Given the description of an element on the screen output the (x, y) to click on. 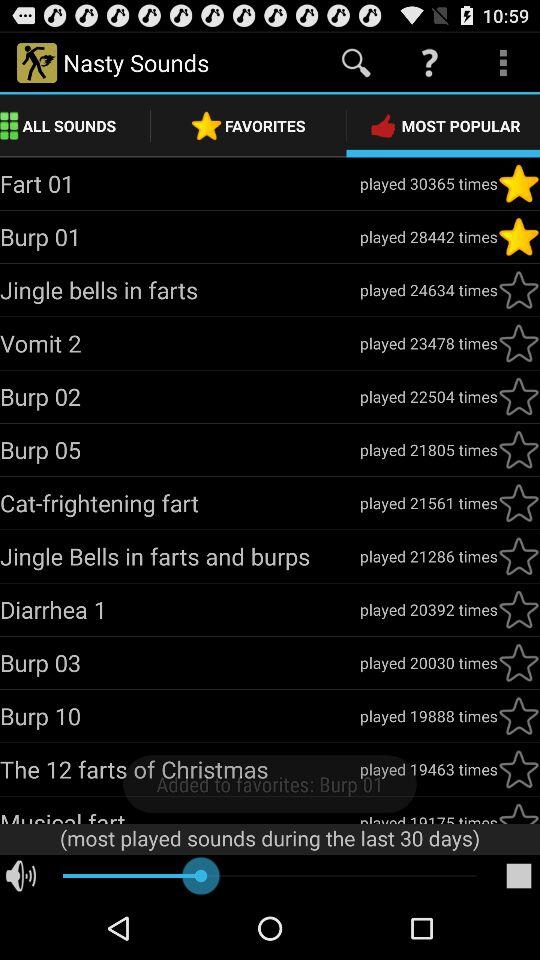
click item to the right of the musical fart (428, 817)
